Given the description of an element on the screen output the (x, y) to click on. 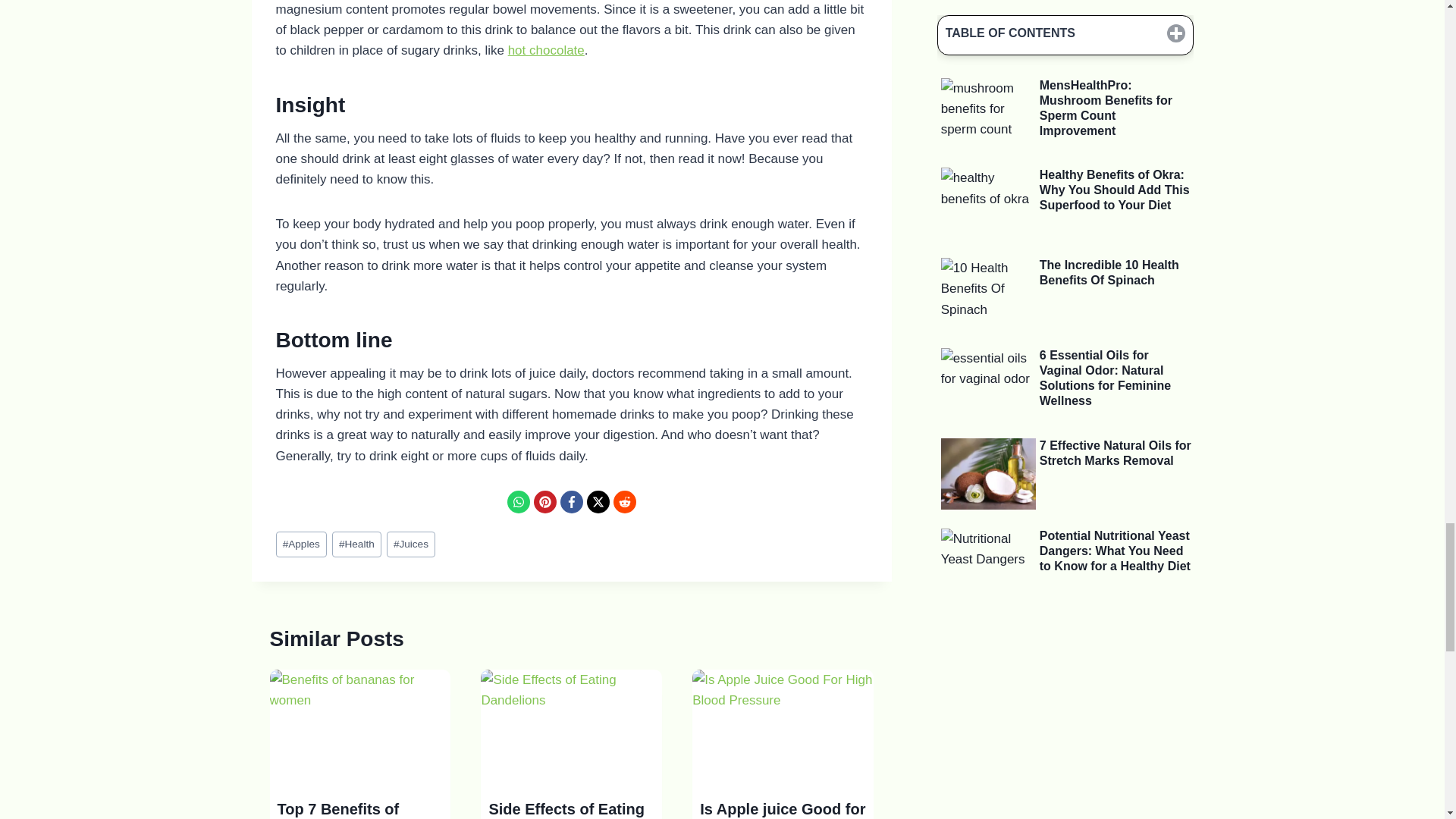
Apples (301, 544)
hot chocolate (546, 50)
Health (356, 544)
Juices (411, 544)
